Given the description of an element on the screen output the (x, y) to click on. 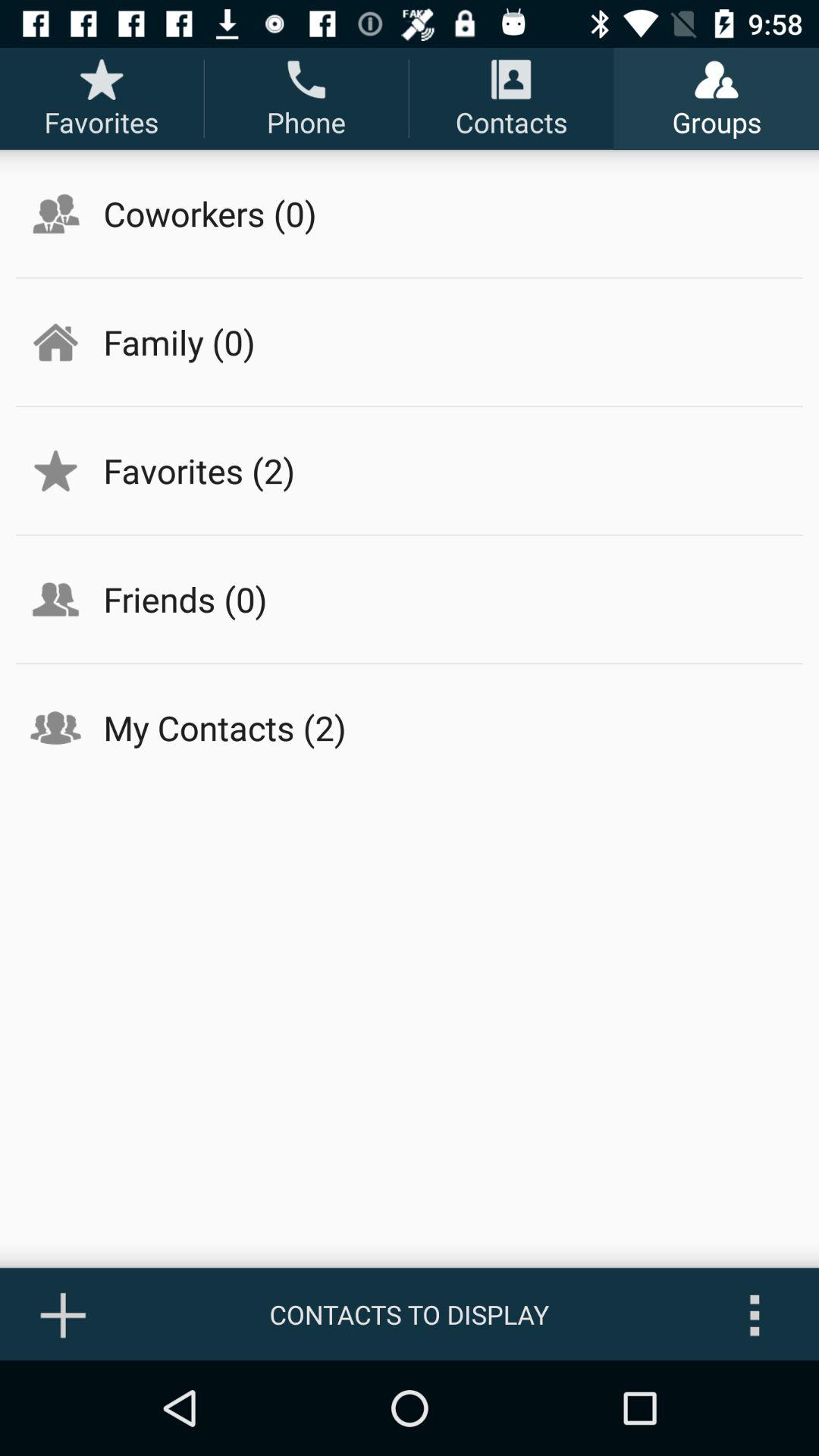
launch item at the bottom right corner (755, 1314)
